Given the description of an element on the screen output the (x, y) to click on. 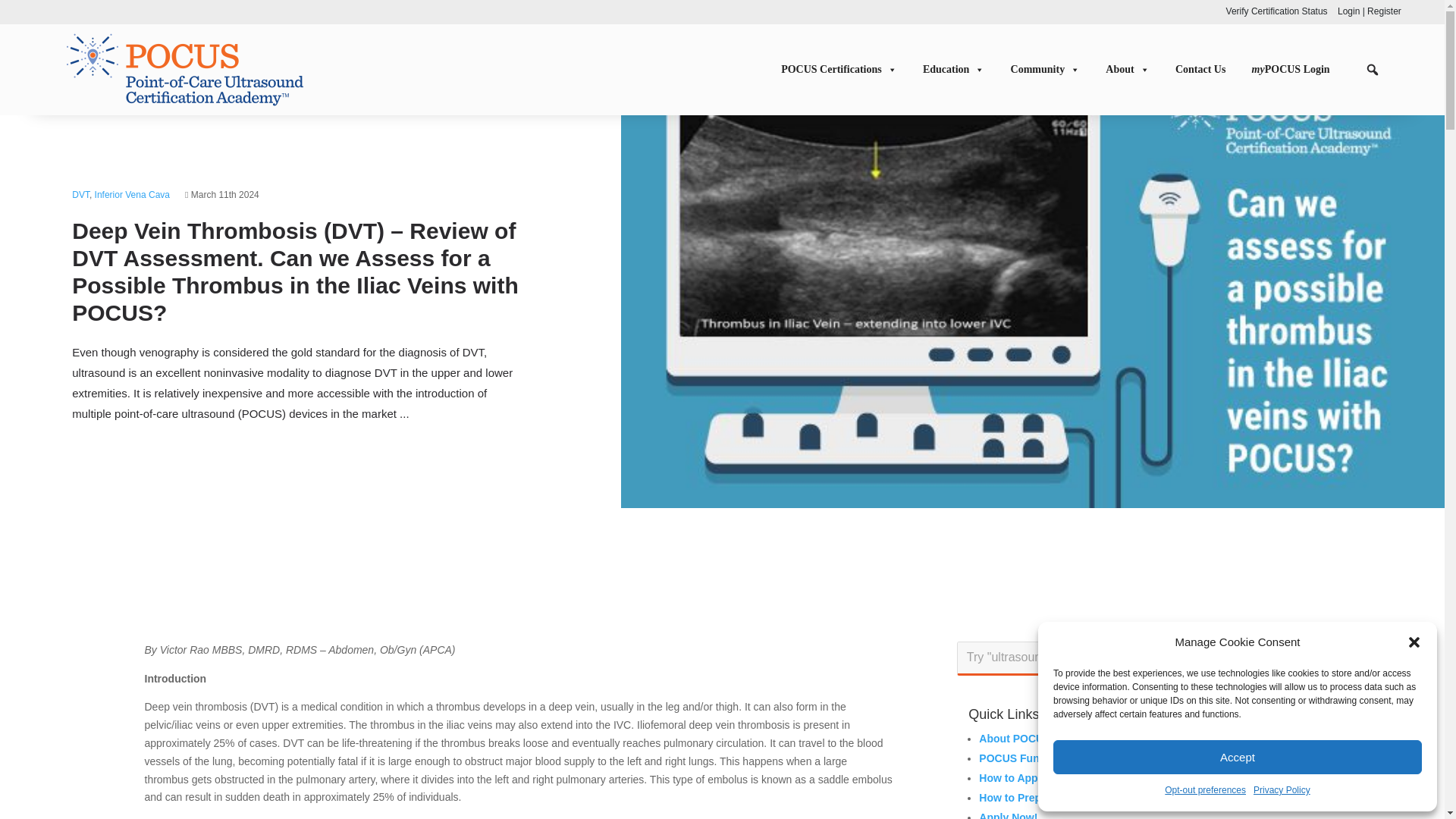
Search (1274, 657)
Opt-out preferences (1205, 791)
POCUS-logo-left-mark-2 lines (184, 69)
POCUS Certifications (845, 69)
Privacy Policy (1281, 791)
Accept (1237, 756)
Search (1274, 657)
Verify Certification Status - Opens In New Tab (1276, 10)
Login or Register on my.pocus.org (1369, 10)
Verify Certification Status (1276, 10)
